Given the description of an element on the screen output the (x, y) to click on. 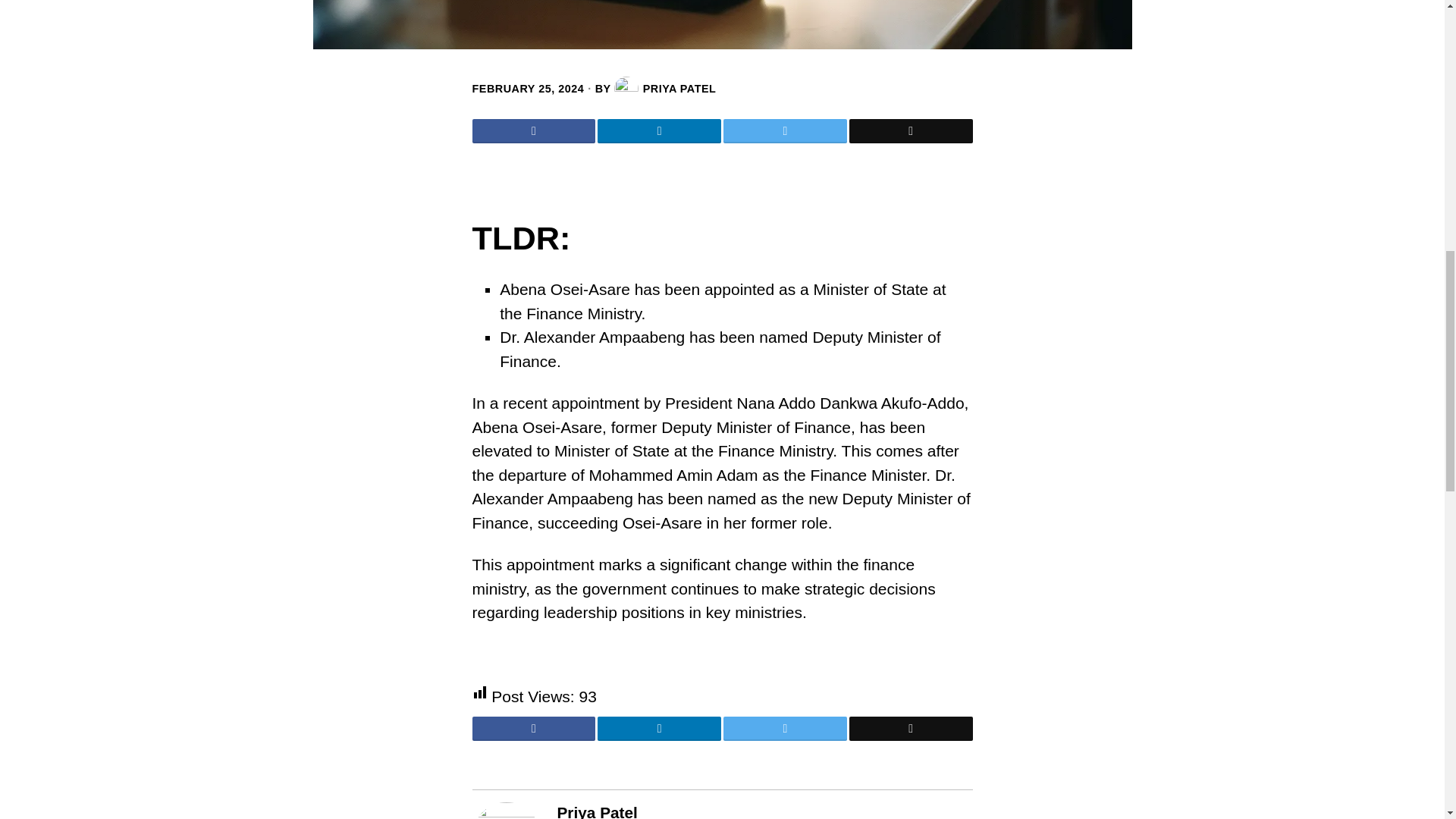
PRIYA PATEL (665, 88)
Priya Patel (596, 811)
25 Feb, 2024 08:09:01 (527, 88)
